Given the description of an element on the screen output the (x, y) to click on. 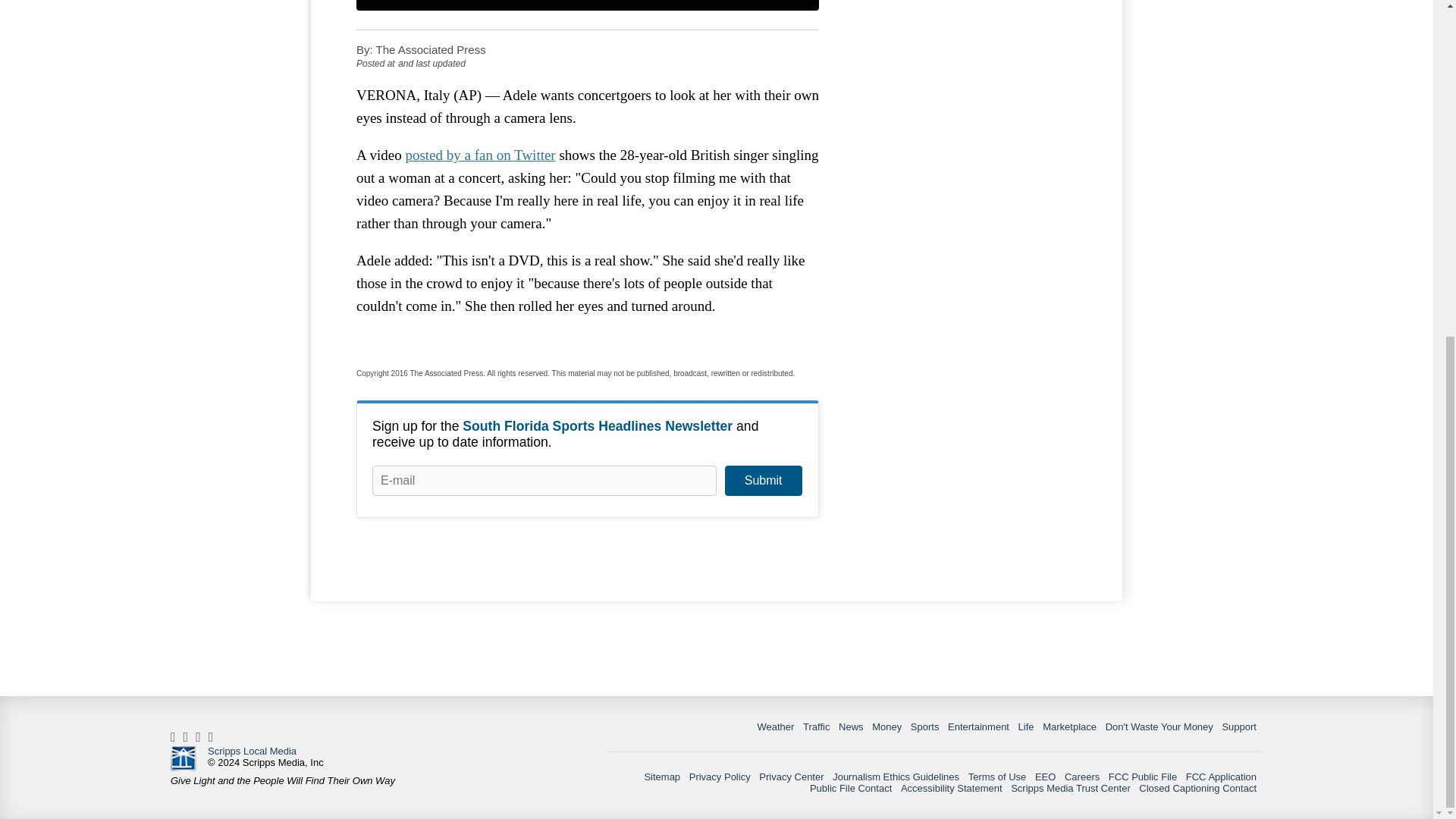
Submit (763, 481)
